Given the description of an element on the screen output the (x, y) to click on. 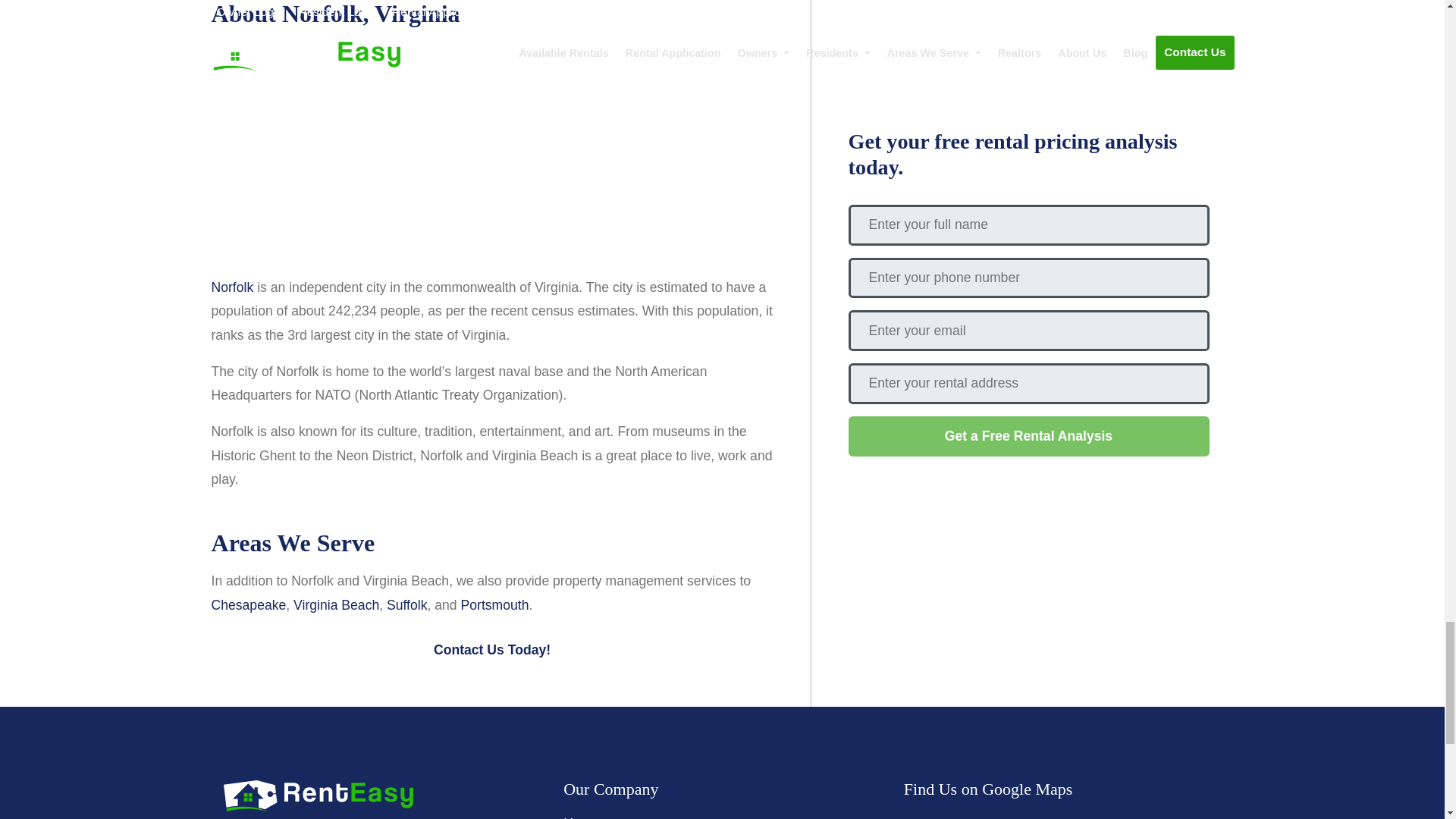
RENTEASYLOGO (317, 795)
Norfolk (232, 287)
